Given the description of an element on the screen output the (x, y) to click on. 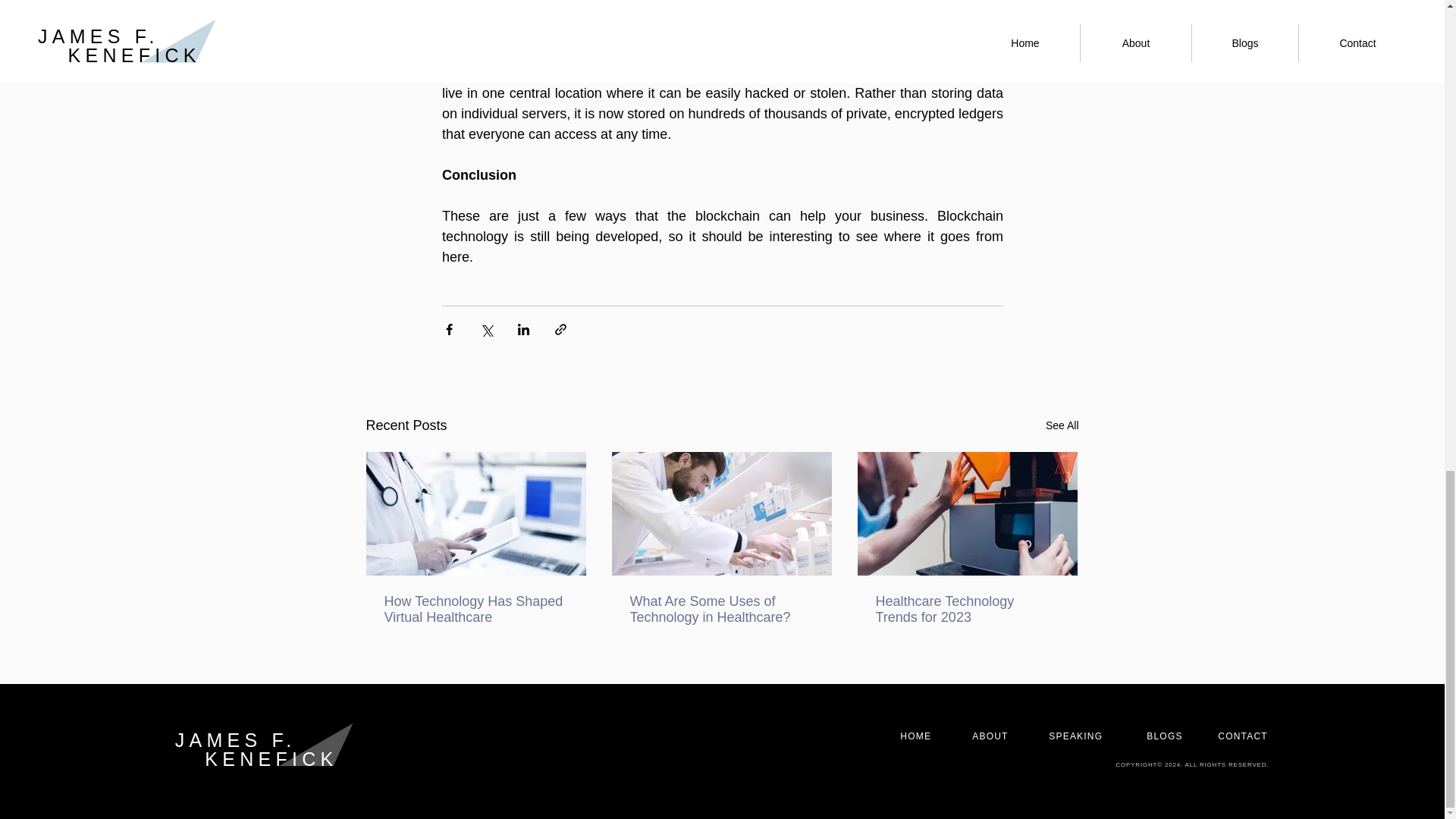
BLOGS (1164, 736)
HOME (915, 736)
See All (1061, 425)
How Technology Has Shaped Virtual Healthcare (475, 609)
What Are Some Uses of Technology in Healthcare? (720, 609)
CONTACT (1242, 736)
ABOUT (989, 736)
s that the blo (665, 215)
Healthcare Technology Trends for 2023 (966, 609)
